Given the description of an element on the screen output the (x, y) to click on. 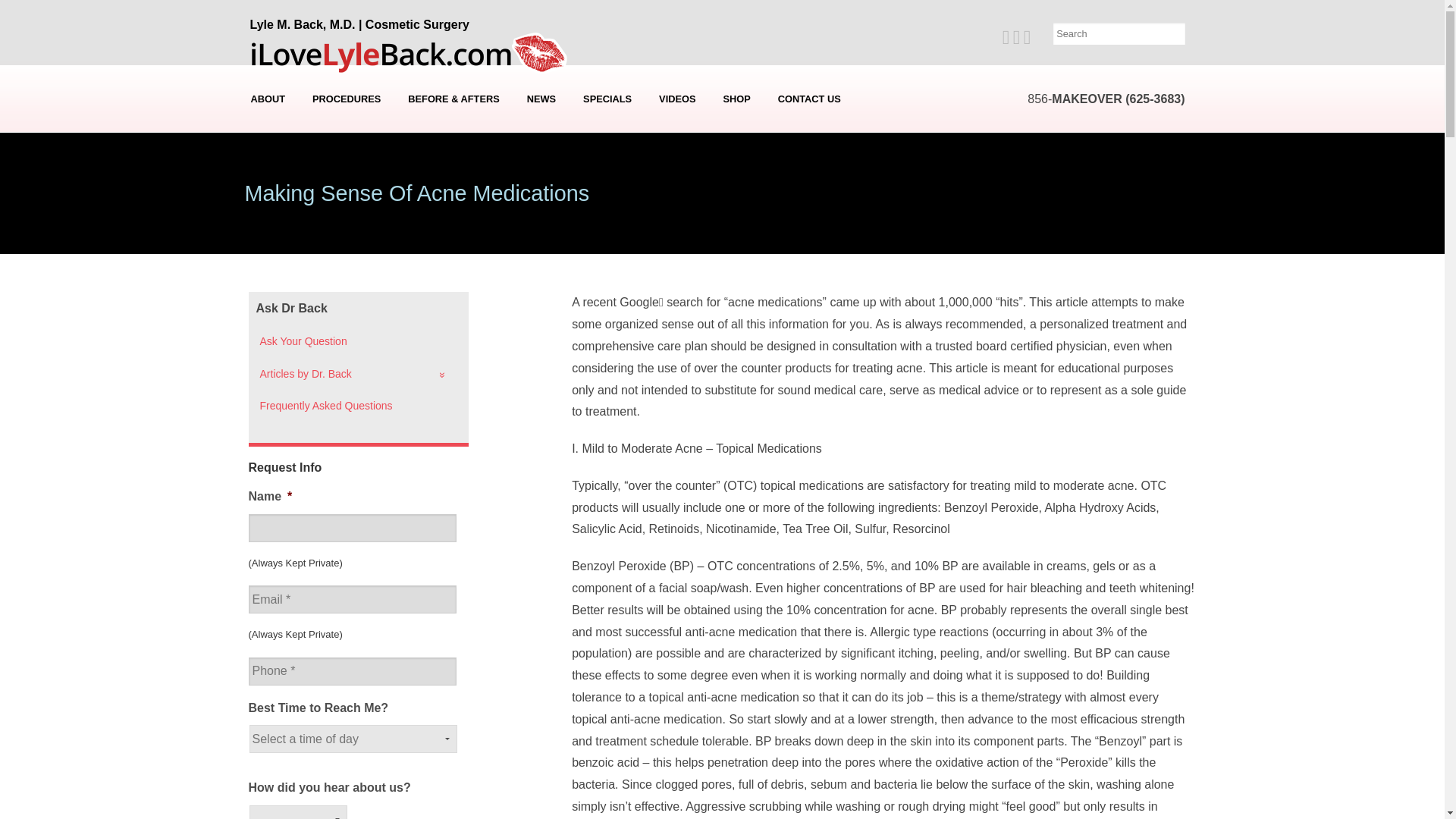
PRESS RELEASES (543, 174)
PROCEDURES (346, 98)
VIDEOS (676, 98)
ABOUT DR. BACK (268, 128)
Cosmetic surgery and skin care services (346, 98)
COSMETIC SURGERY CENTER (268, 174)
COSMETIC SKIN CARE (346, 265)
SHOP (736, 98)
ASK DR. BACK (543, 220)
NEWSLETTER (543, 151)
NEWS (541, 98)
Listen to Dr Back talk about common questions from patients (676, 98)
COSMETIC SKIN CARE SPECIALISTS (268, 197)
CONTACT US (809, 98)
NON-SURGICAL (346, 242)
